Given the description of an element on the screen output the (x, y) to click on. 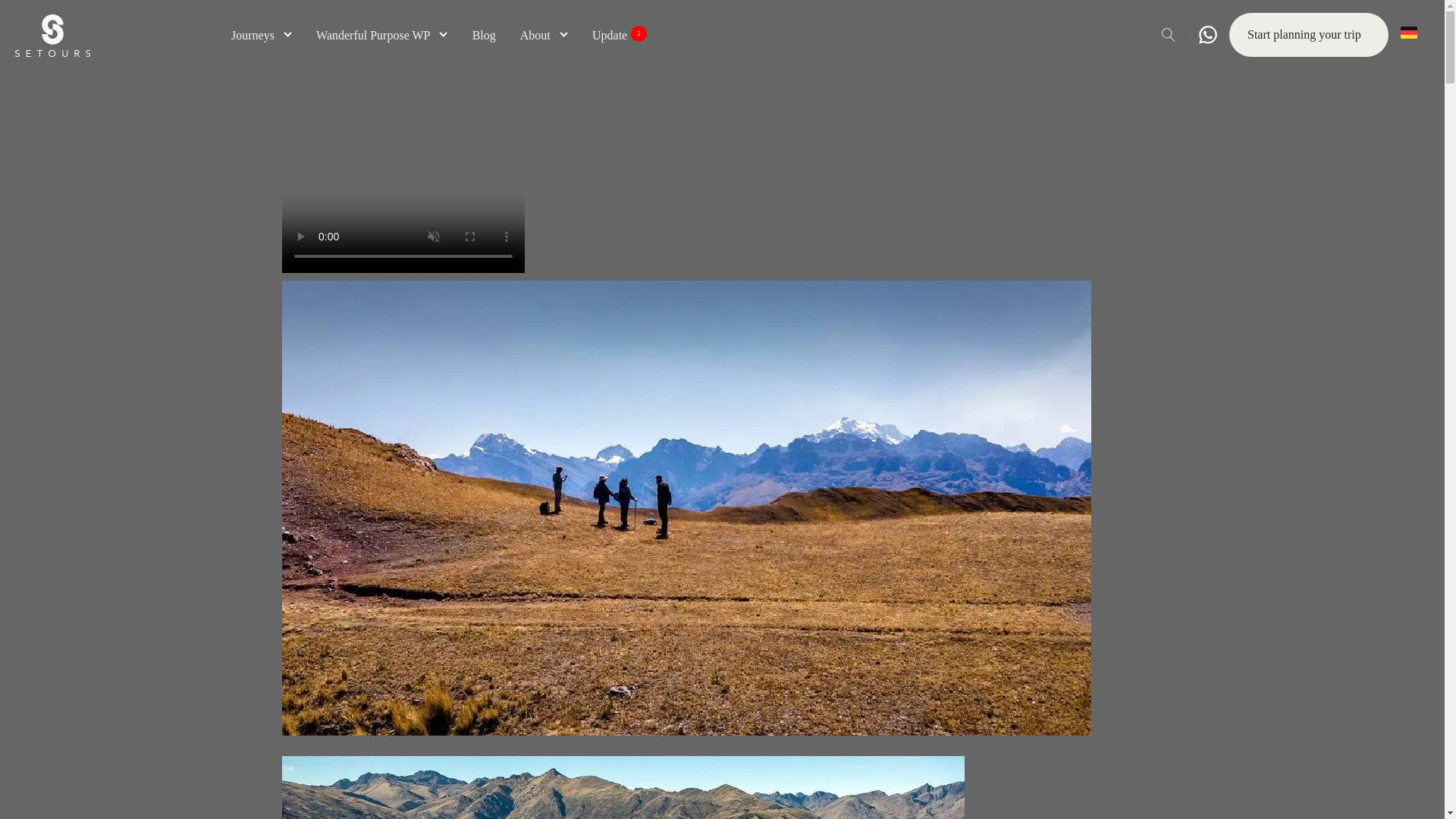
Search (32, 20)
Blog (483, 34)
Wanderful Purpose WP (619, 34)
Journeys (381, 34)
About (261, 34)
